Given the description of an element on the screen output the (x, y) to click on. 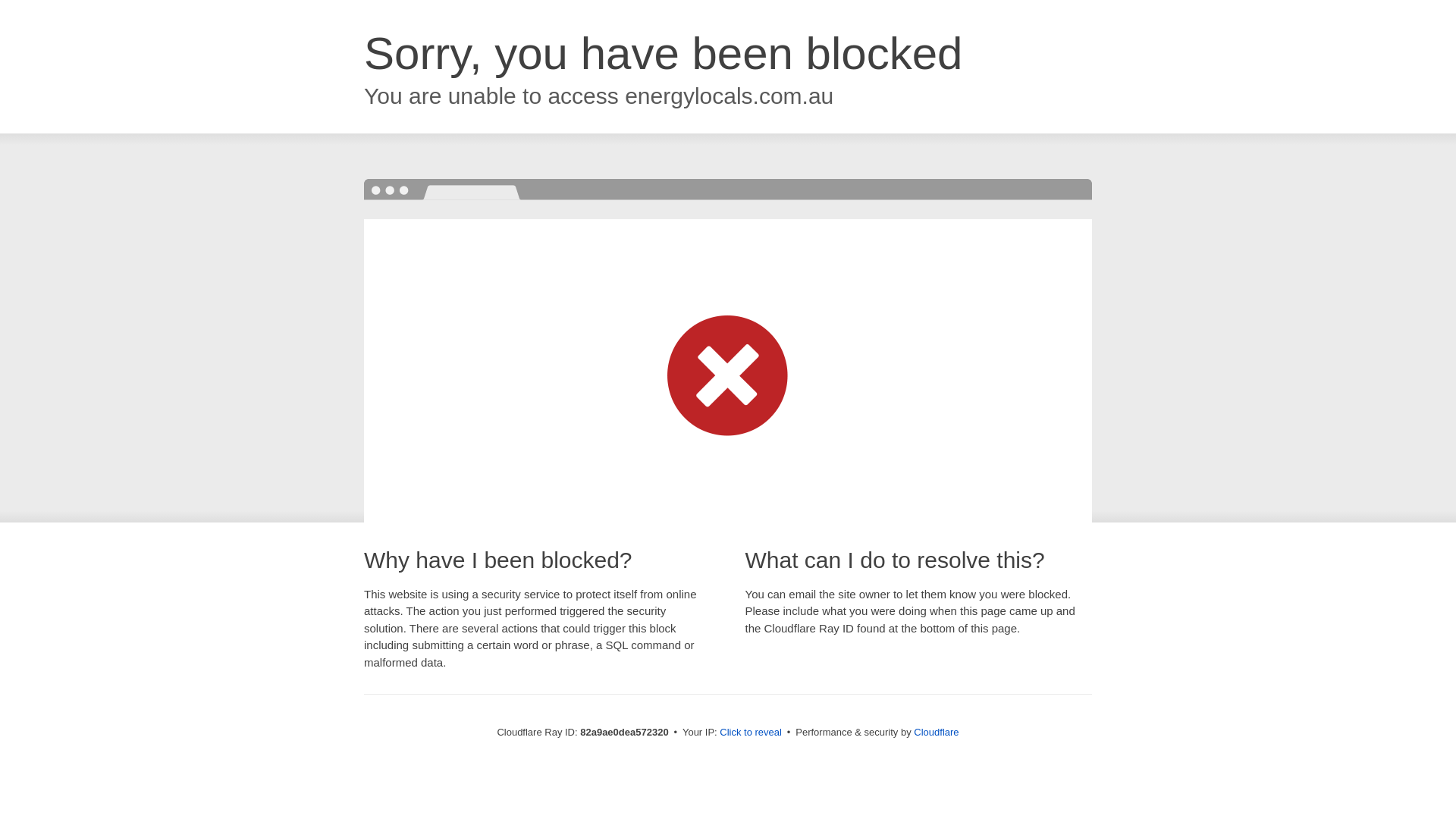
Cloudflare Element type: text (935, 731)
Click to reveal Element type: text (750, 732)
